Given the description of an element on the screen output the (x, y) to click on. 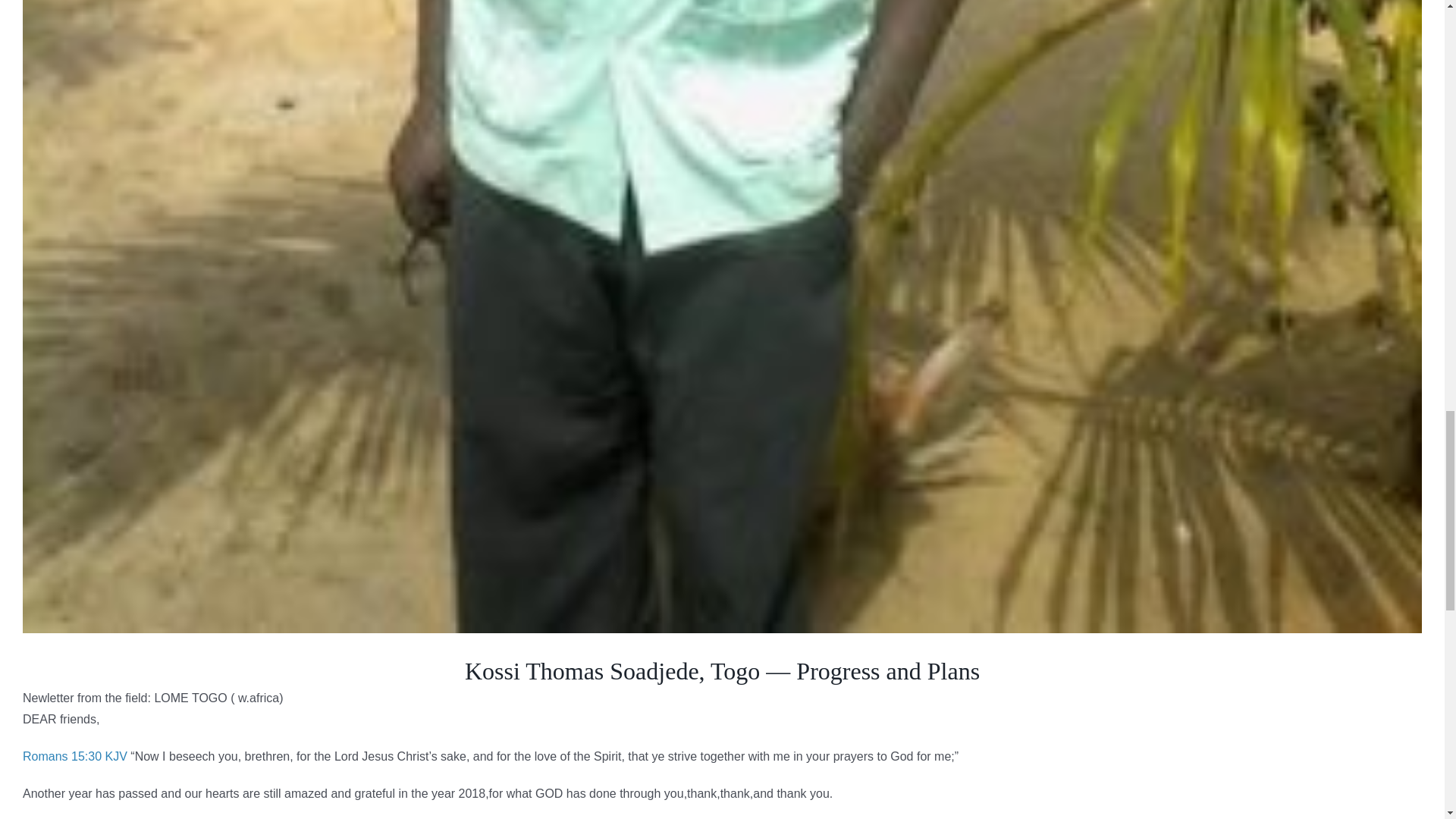
Romans 15:30 KJV (75, 756)
